Given the description of an element on the screen output the (x, y) to click on. 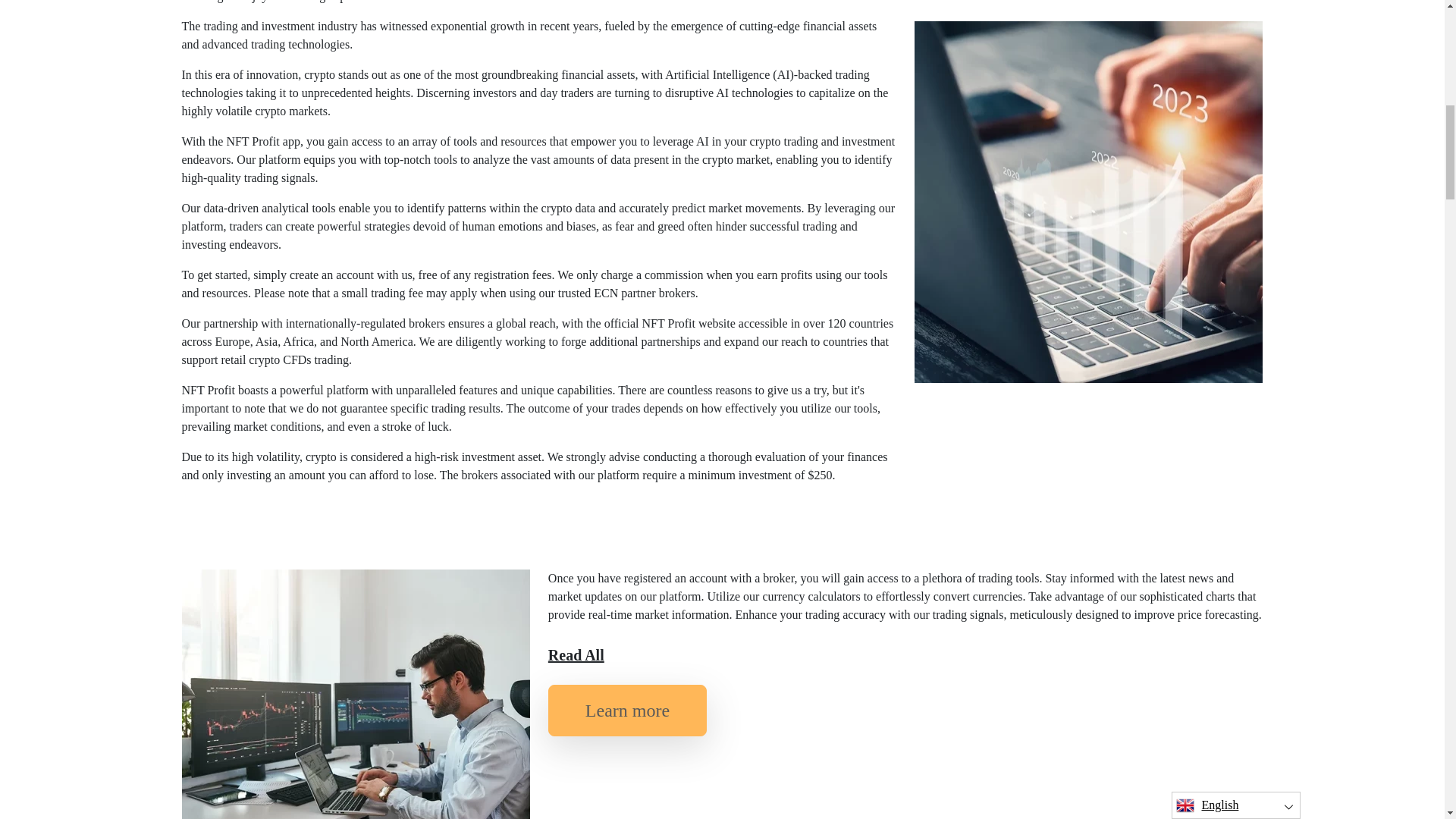
Learn more (627, 710)
